Given the description of an element on the screen output the (x, y) to click on. 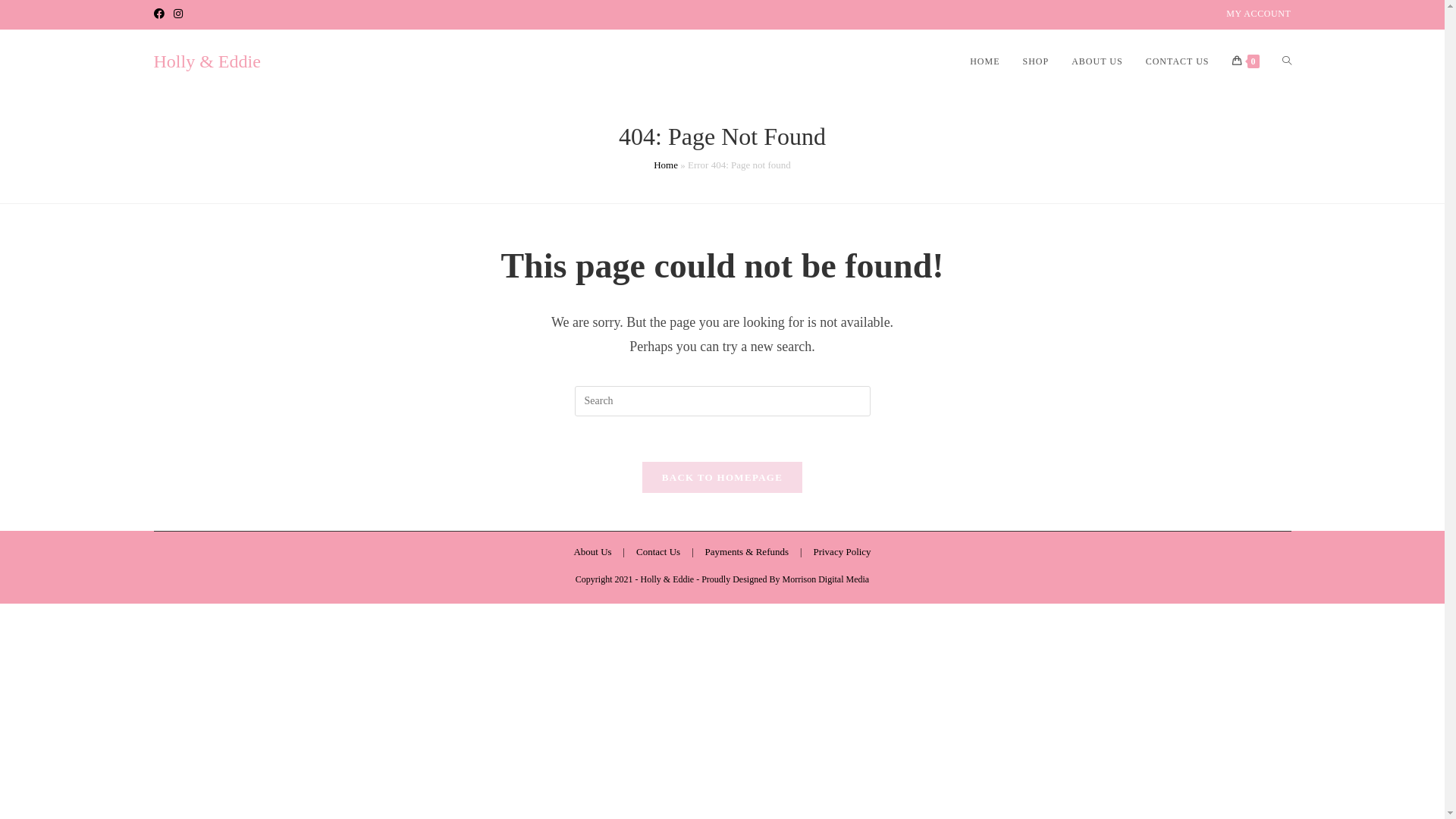
CONTACT US Element type: text (1177, 61)
Holly & Eddie Element type: text (206, 61)
SHOP Element type: text (1035, 61)
HOME Element type: text (984, 61)
0 Element type: text (1245, 61)
Privacy Policy Element type: text (841, 551)
Contact Us Element type: text (657, 551)
ABOUT US Element type: text (1096, 61)
BACK TO HOMEPAGE Element type: text (722, 476)
Home Element type: text (665, 164)
About Us Element type: text (591, 551)
Payments & Refunds Element type: text (747, 551)
MY ACCOUNT Element type: text (1258, 14)
